Given the description of an element on the screen output the (x, y) to click on. 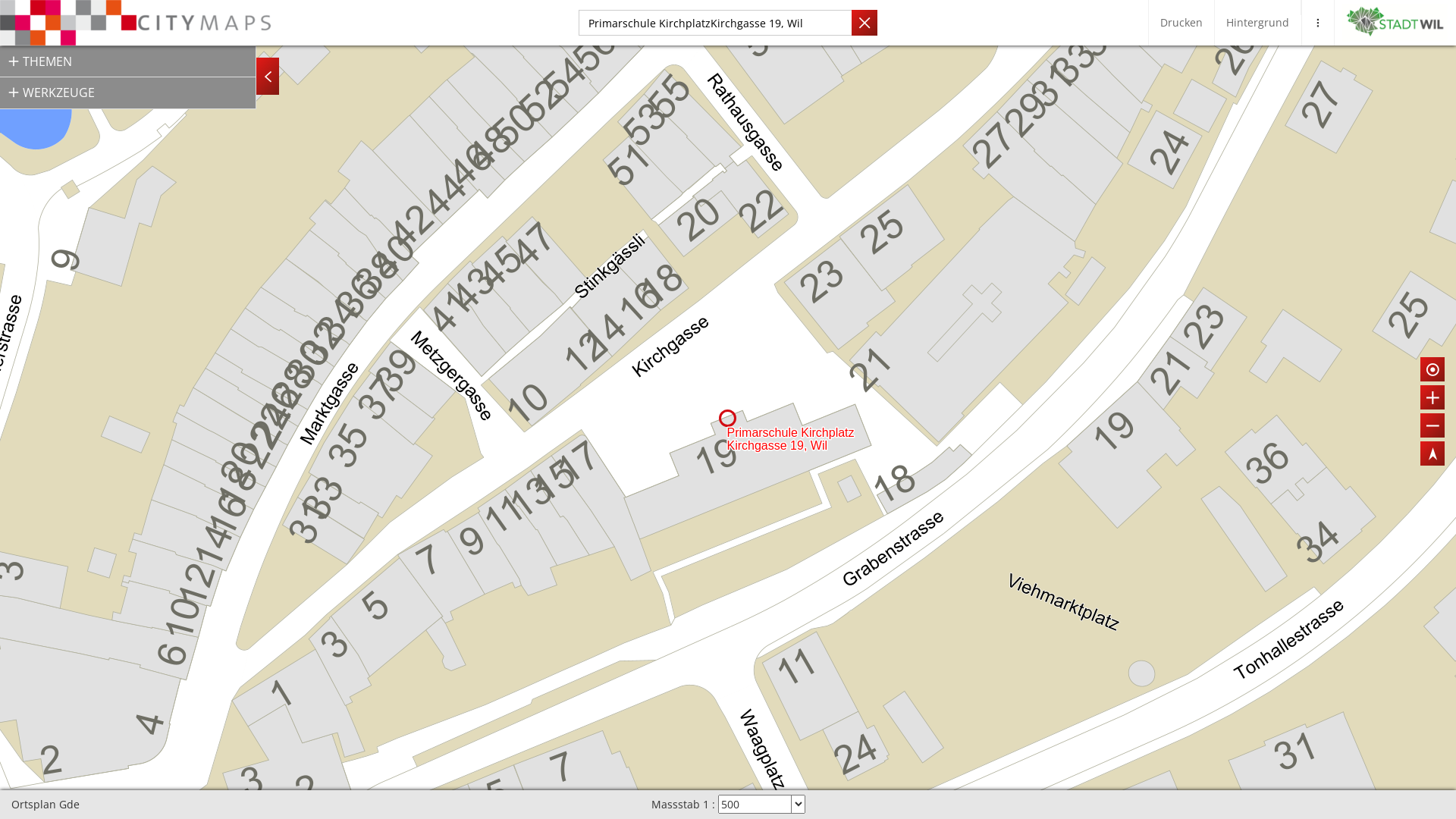
Ihre Position Element type: hover (1432, 370)
Zoom In Element type: hover (1432, 398)
Drucken Element type: text (1181, 22)
Karte nach Norden ausrichten Element type: hover (1432, 454)
WERKZEUGE Element type: text (127, 92)
Weitere Funktionen Element type: hover (1317, 22)
Hintergrund Element type: text (1257, 22)
THEMEN Element type: text (127, 61)
Zoom Out Element type: hover (1432, 426)
